Given the description of an element on the screen output the (x, y) to click on. 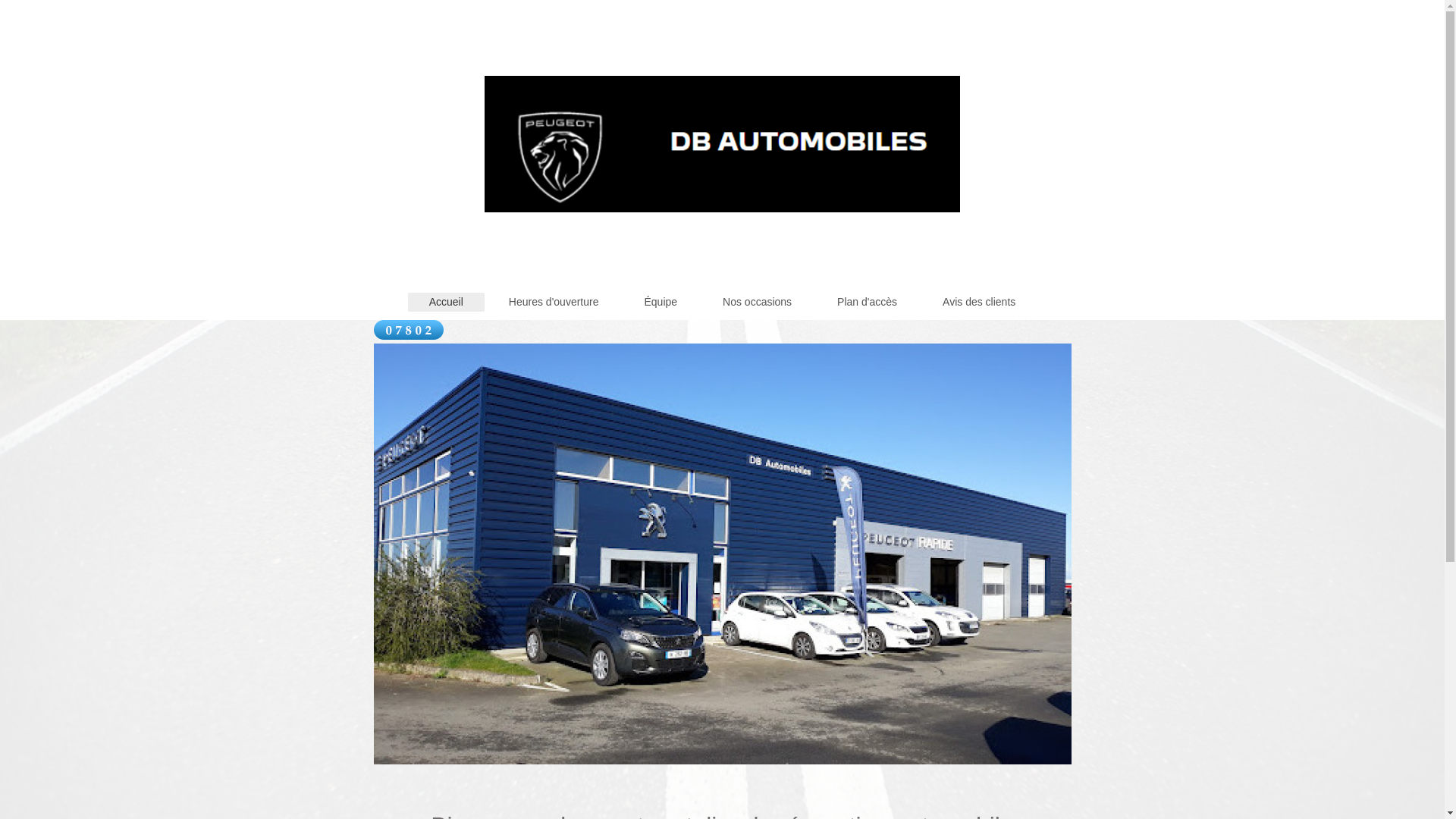
Avis des clients Element type: text (978, 301)
Accueil Element type: text (445, 301)
Nos occasions Element type: text (756, 301)
Heures d'ouverture Element type: text (553, 301)
